Given the description of an element on the screen output the (x, y) to click on. 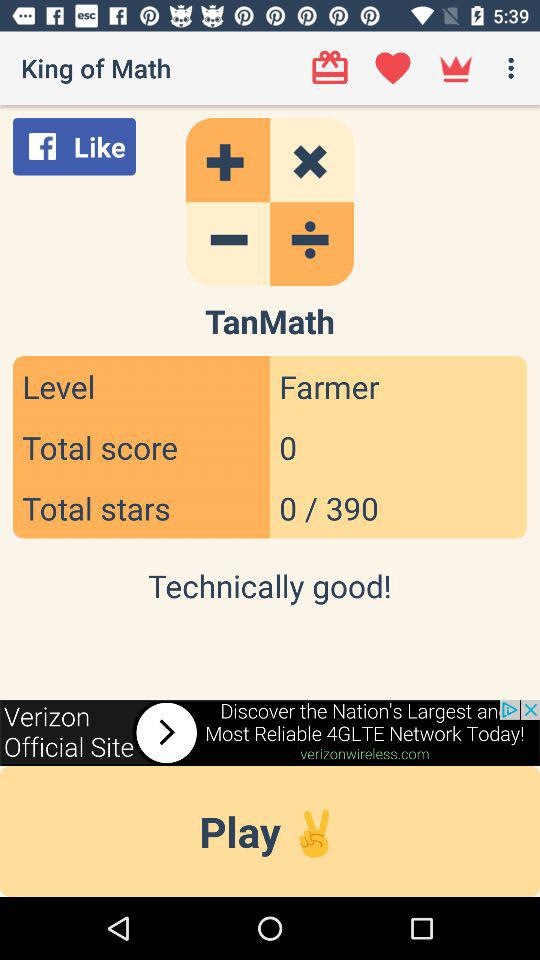
select calculator feature (270, 202)
